Given the description of an element on the screen output the (x, y) to click on. 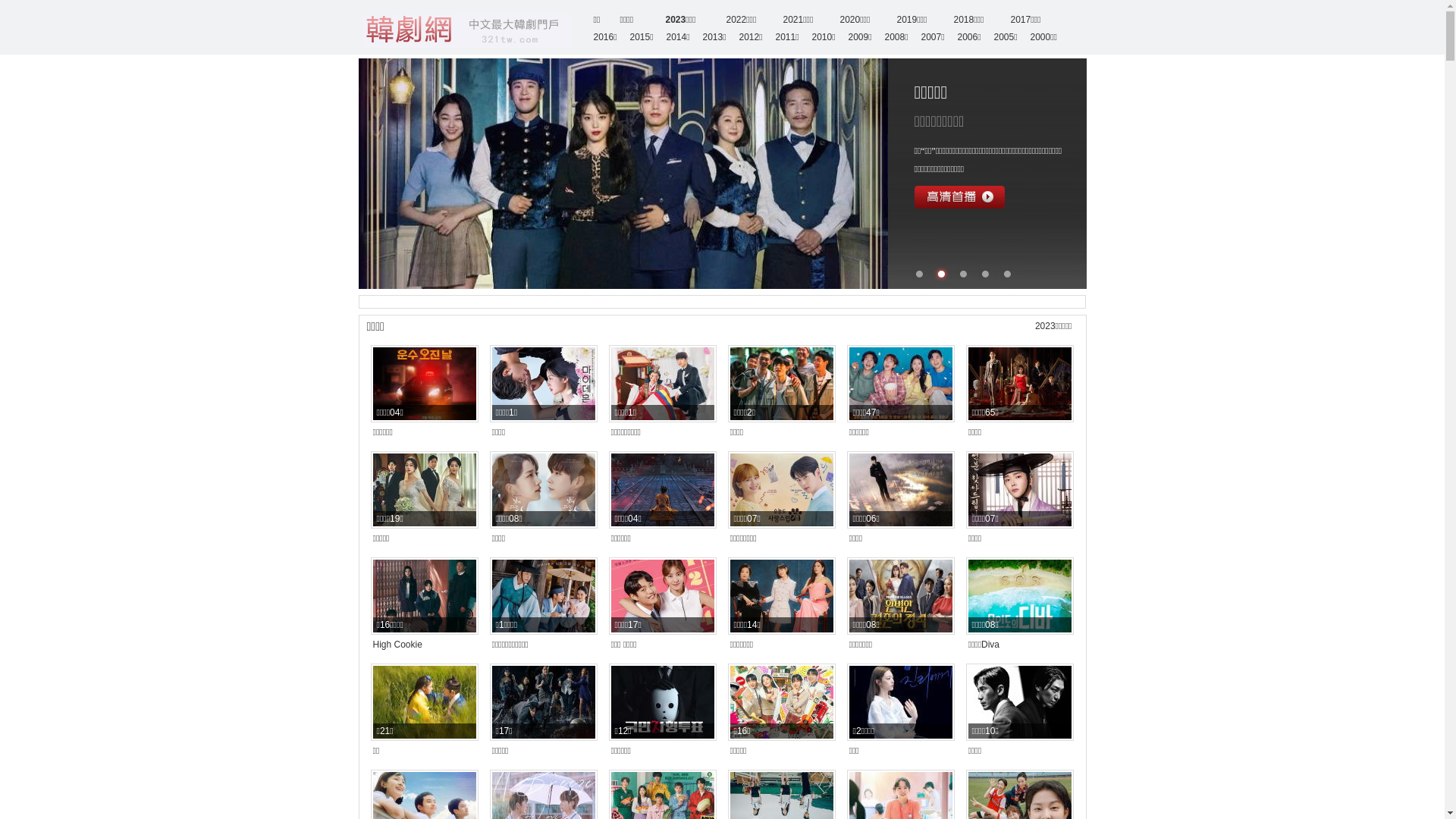
High Cookie Element type: text (397, 644)
